Given the description of an element on the screen output the (x, y) to click on. 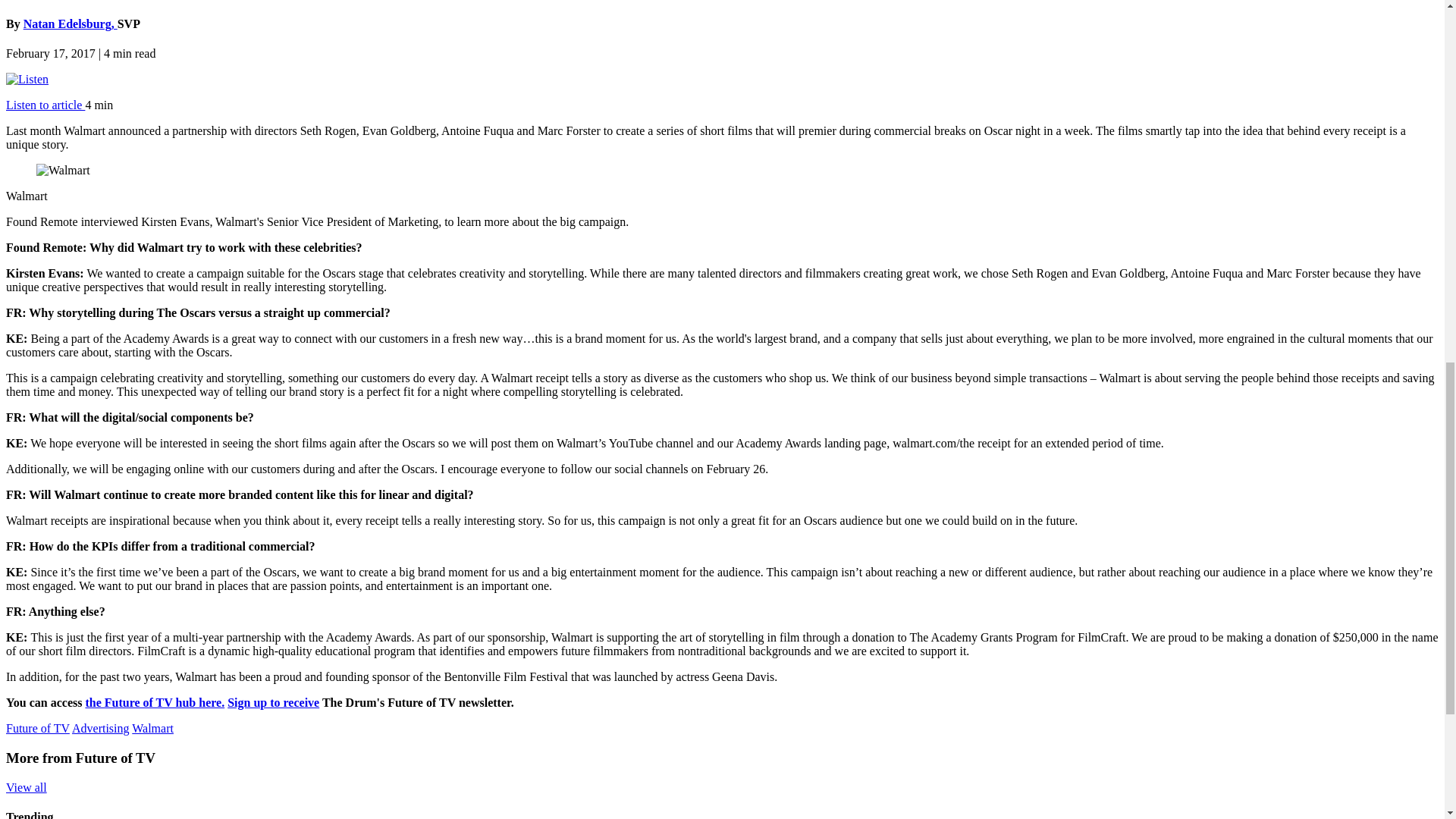
Walmart (152, 727)
the Future of TV hub here. (154, 702)
Natan Edelsburg, (70, 23)
Advertising (100, 727)
Listen to article (44, 104)
Sign up to receive (272, 702)
Walmart (63, 170)
View all (25, 787)
Future of TV (37, 727)
